Given the description of an element on the screen output the (x, y) to click on. 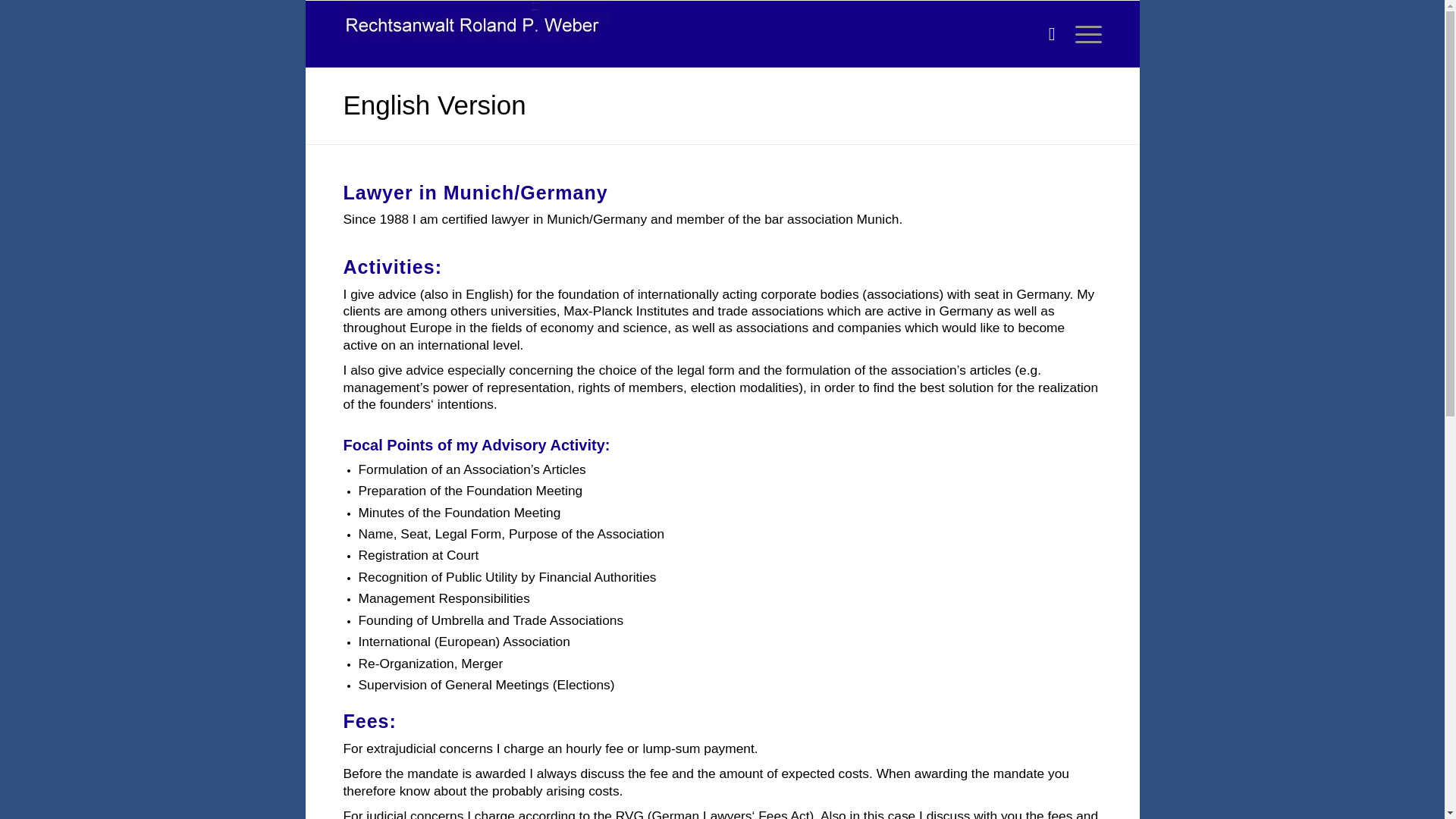
English Version (433, 104)
Permanenter Link zu: English Version (433, 104)
